Given the description of an element on the screen output the (x, y) to click on. 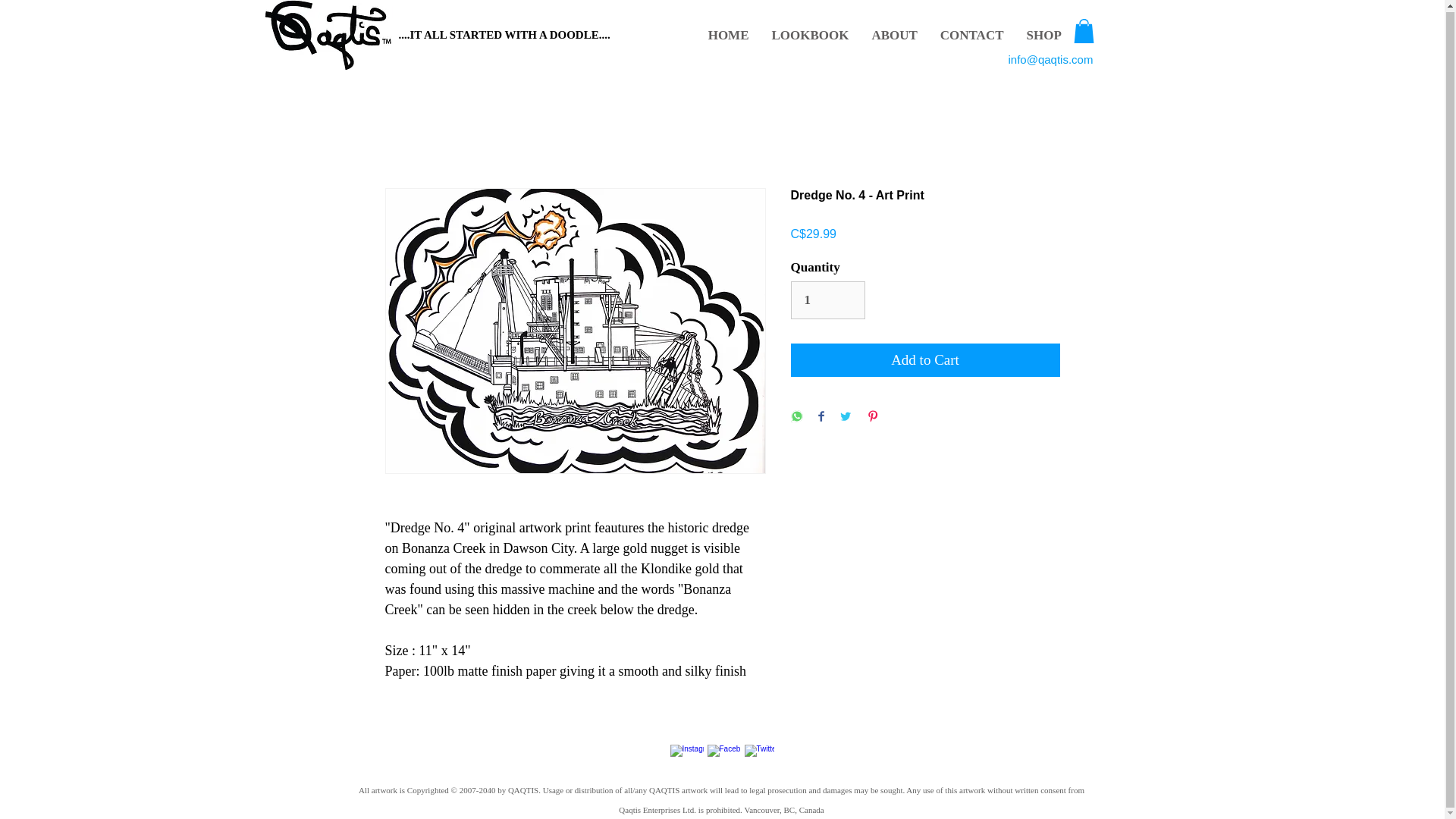
1 (827, 299)
Add to Cart (924, 360)
ABOUT (894, 35)
LOOKBOOK (810, 35)
CONTACT (971, 35)
HOME (727, 35)
SHOP (1042, 35)
